Given the description of an element on the screen output the (x, y) to click on. 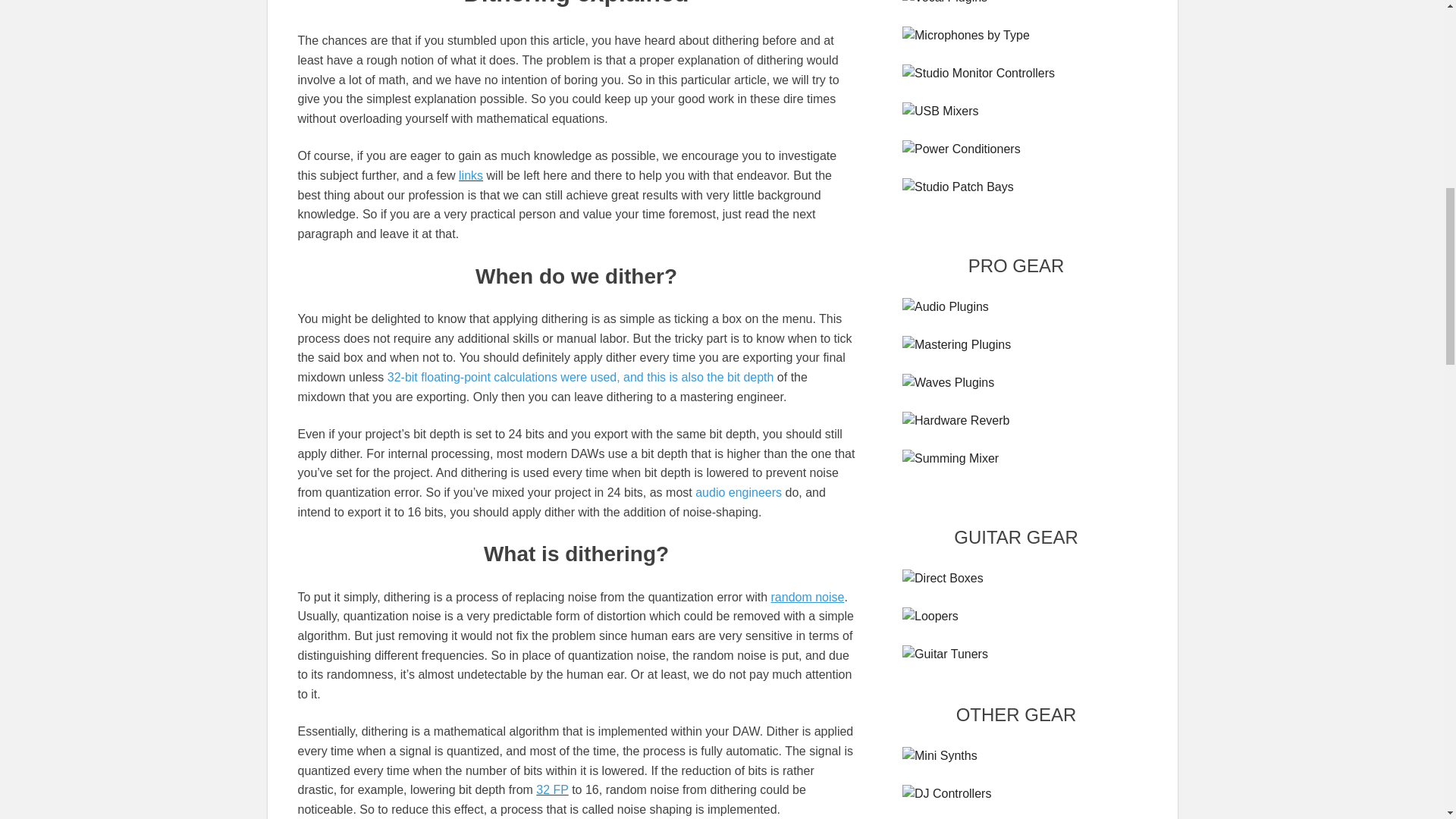
links (470, 174)
audio engineers (738, 492)
32 FP (551, 789)
random noise (807, 596)
